Given the description of an element on the screen output the (x, y) to click on. 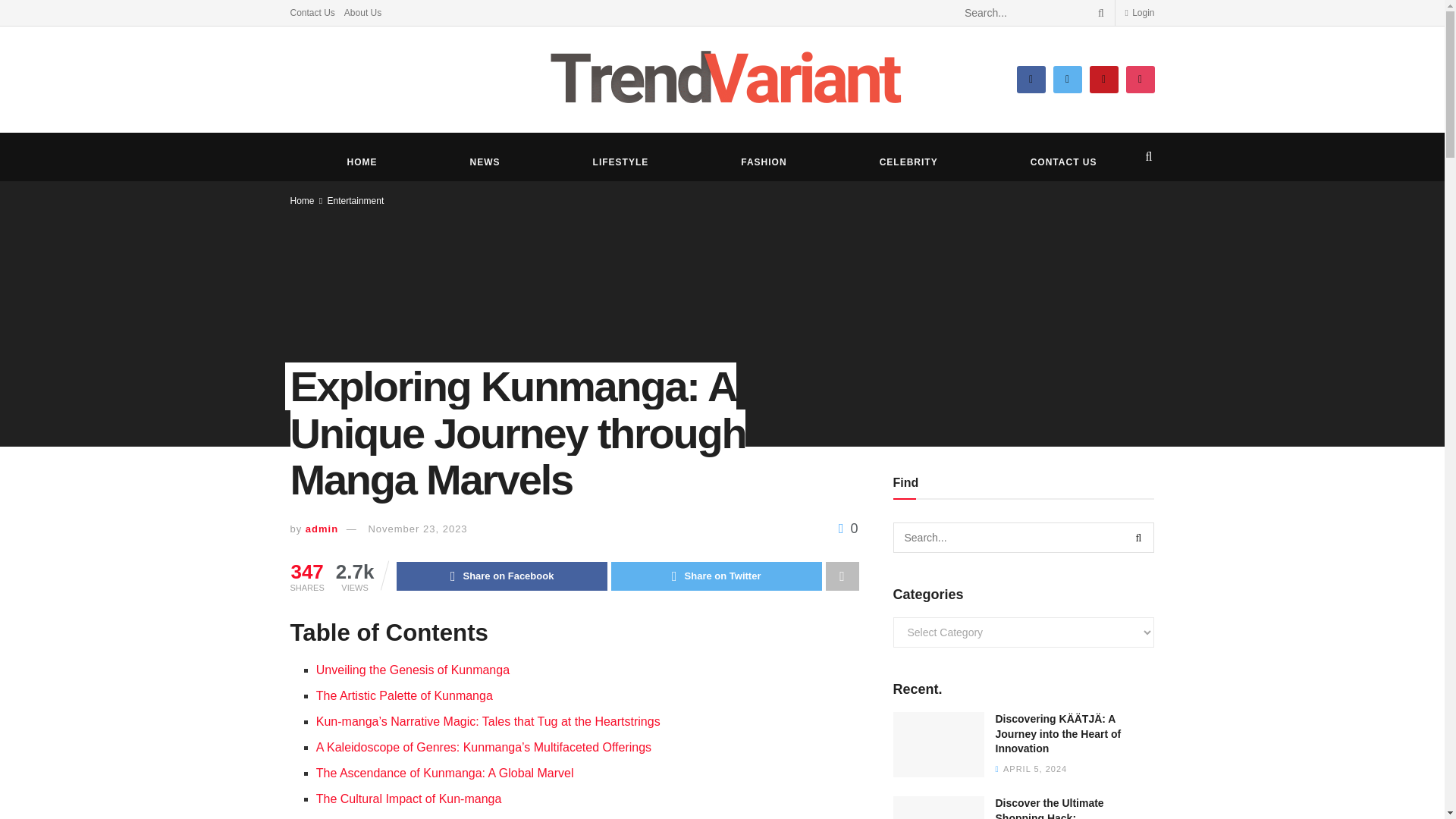
Contact Us (311, 12)
HOME (361, 161)
LIFESTYLE (621, 161)
CONTACT US (1063, 161)
Entertainment (355, 200)
November 23, 2023 (417, 528)
Login (1139, 12)
admin (321, 528)
Share on Facebook (501, 575)
NEWS (485, 161)
About Us (362, 12)
0 (848, 528)
Home (301, 200)
Share on Twitter (716, 575)
CELEBRITY (908, 161)
